Given the description of an element on the screen output the (x, y) to click on. 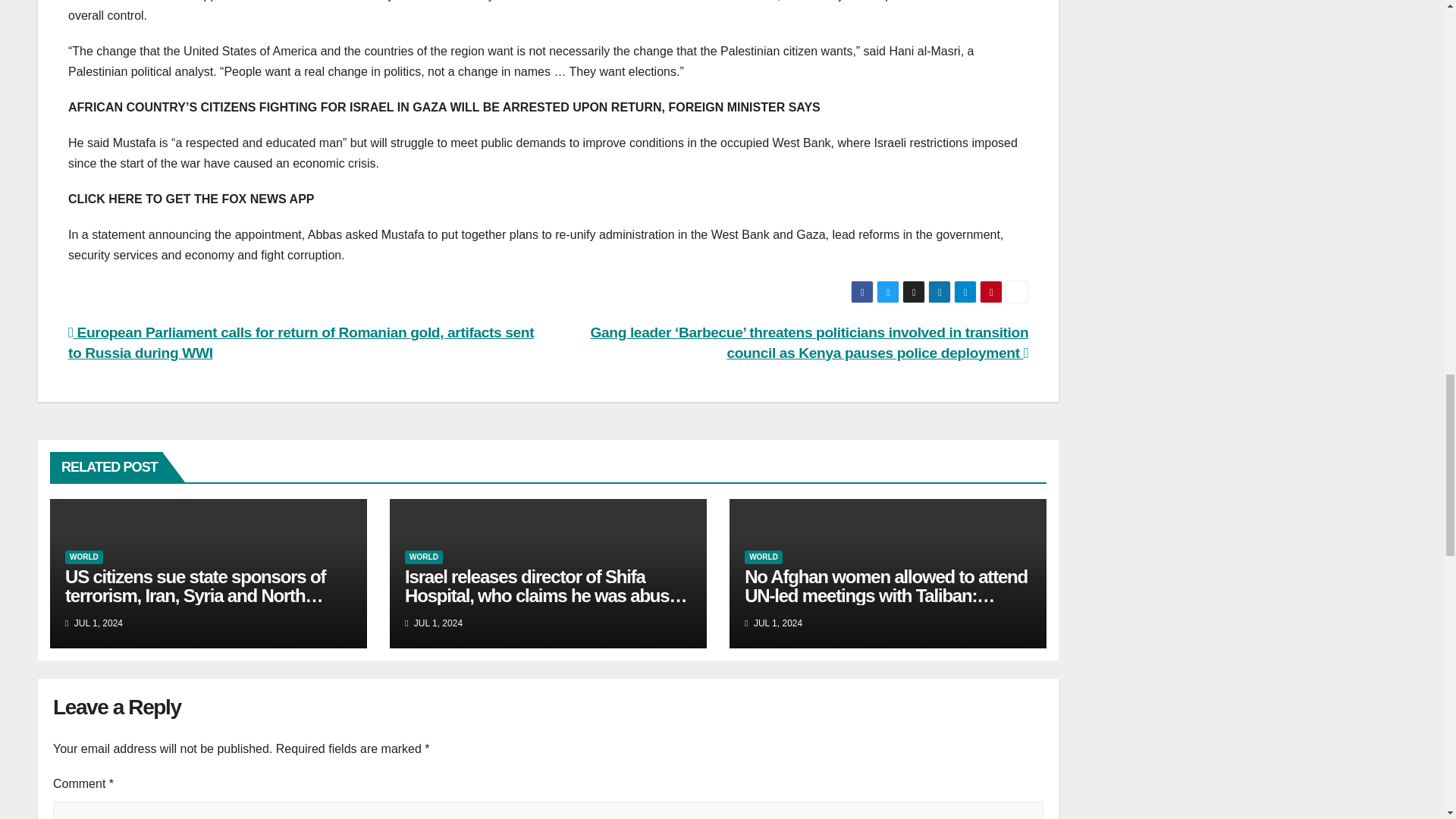
WORLD (423, 557)
WORLD (763, 557)
WORLD (84, 557)
